Given the description of an element on the screen output the (x, y) to click on. 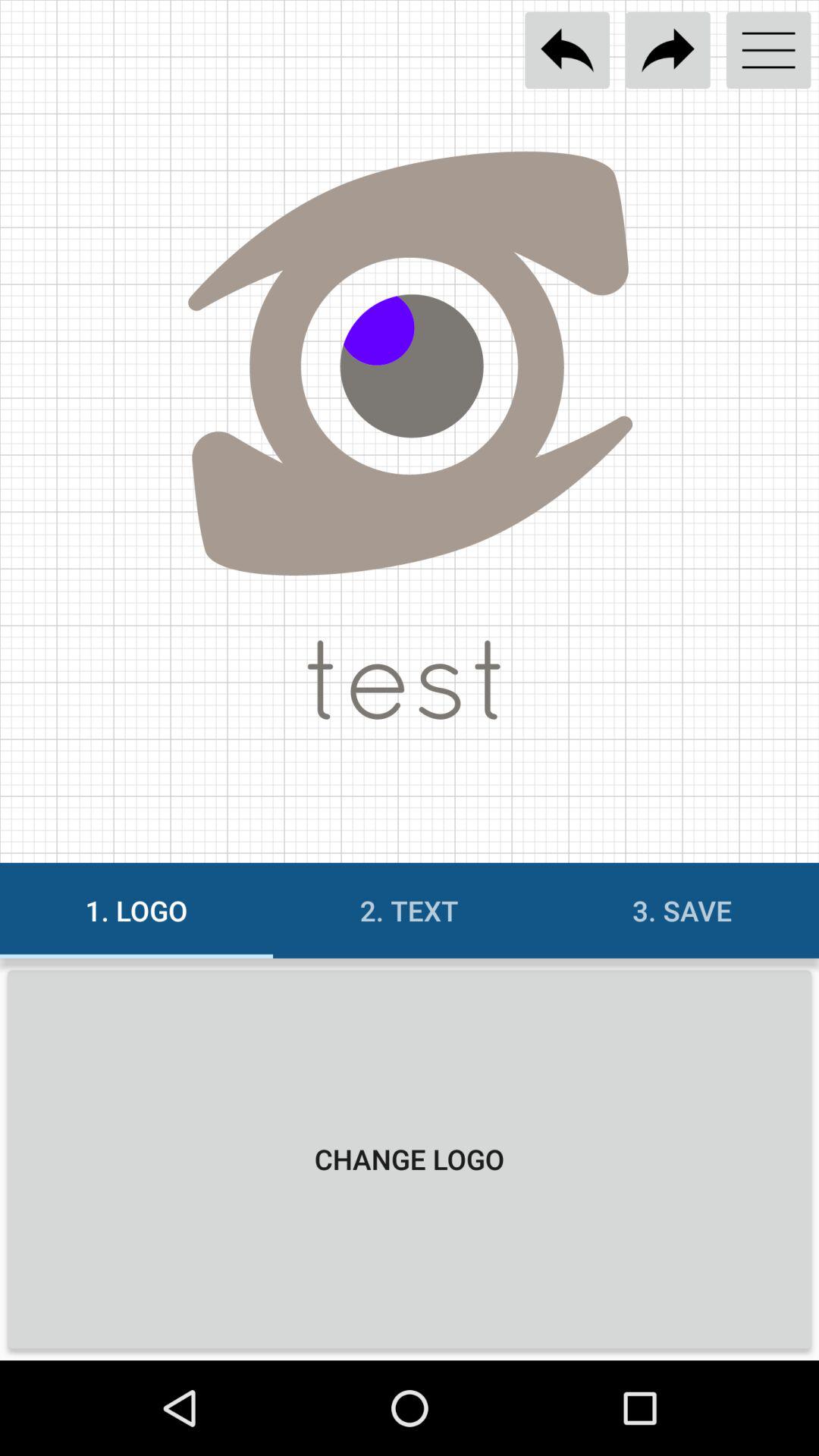
click to the share options (667, 50)
